Given the description of an element on the screen output the (x, y) to click on. 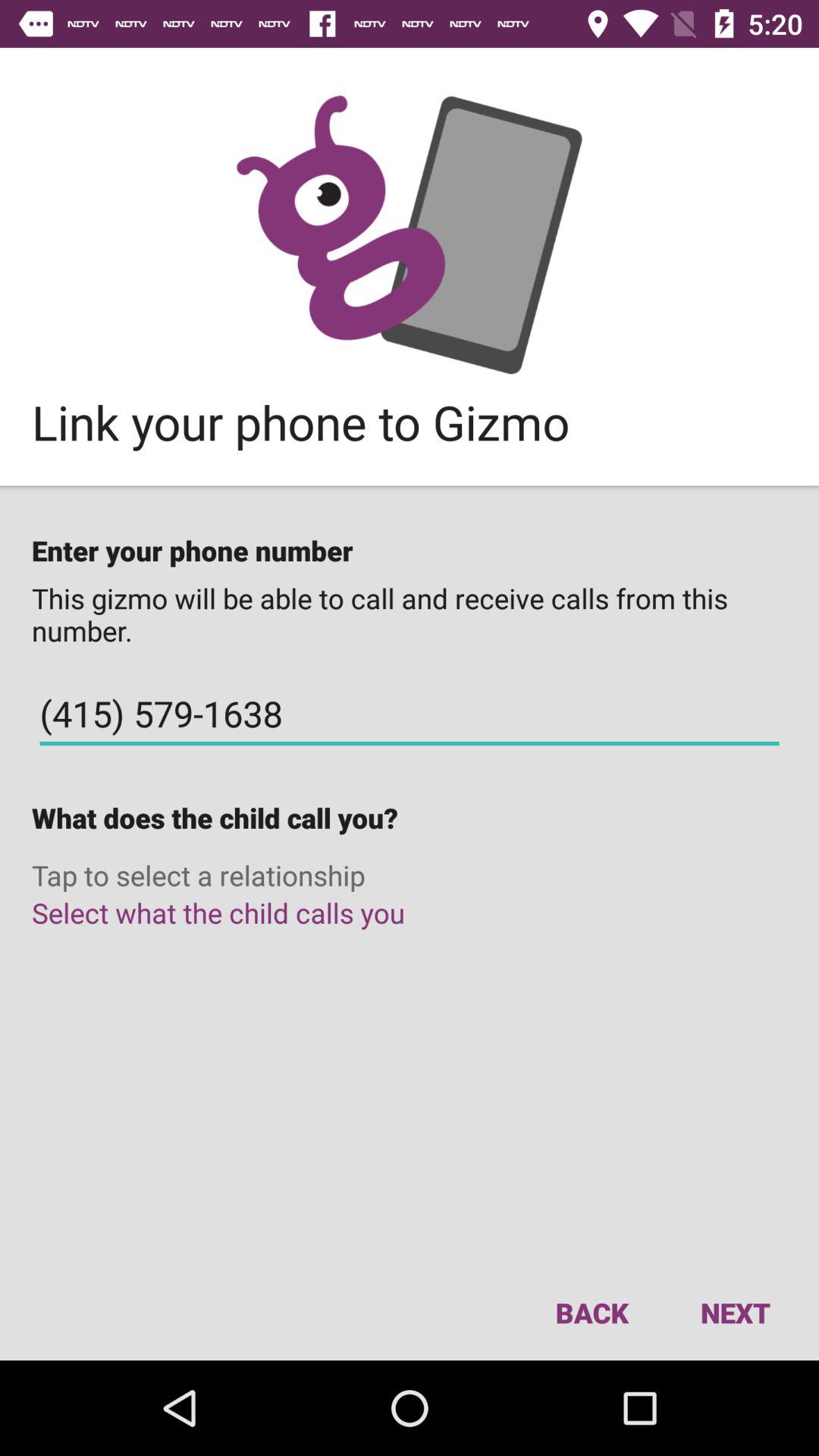
go to the home page (409, 234)
